Given the description of an element on the screen output the (x, y) to click on. 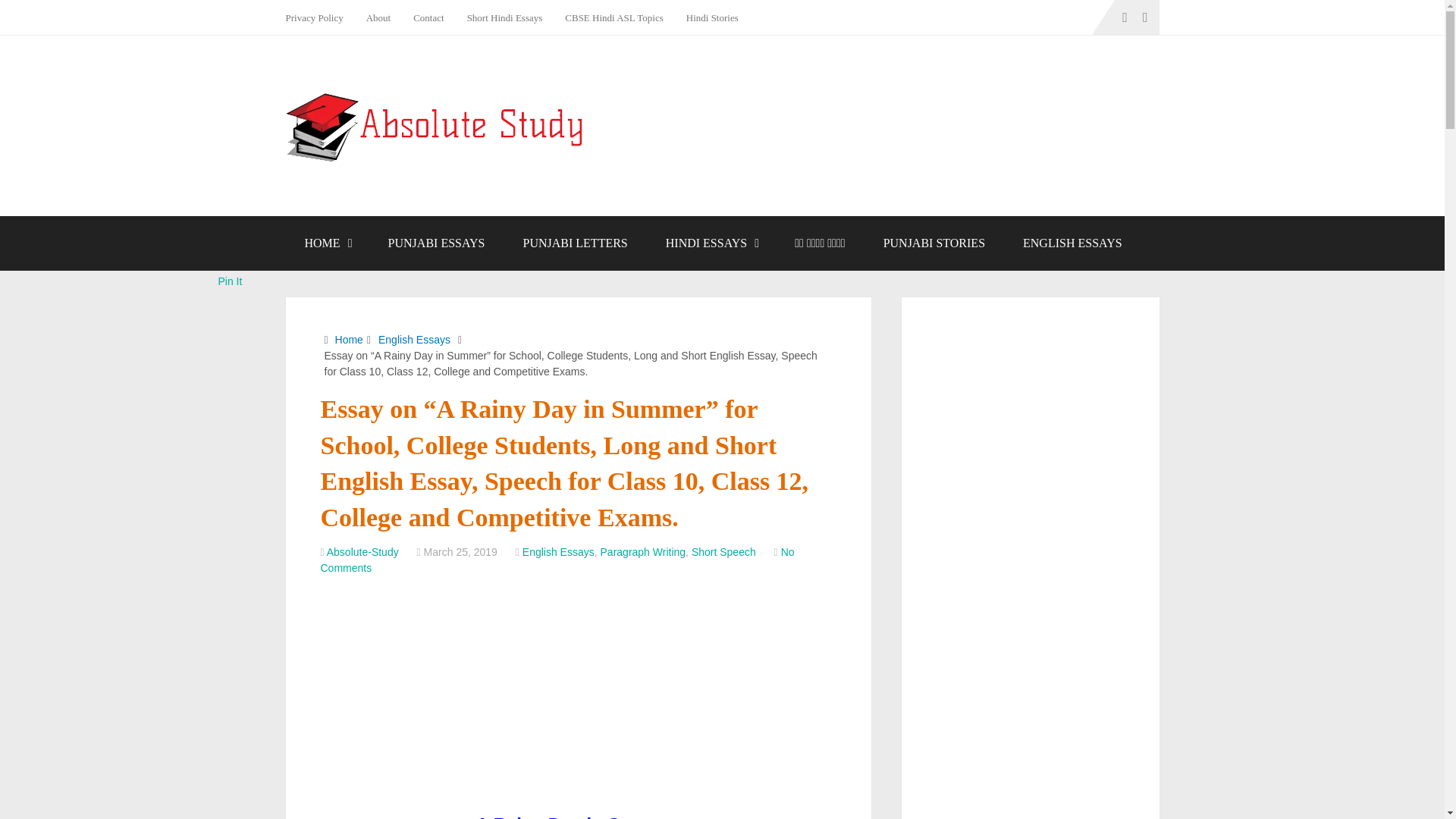
HOME (326, 243)
View all posts in Short Speech (723, 551)
Absolute-Study (362, 551)
View all posts in English Essays (558, 551)
Home (348, 339)
Short Hindi Essays (504, 17)
HINDI ESSAYS (711, 243)
English Essays (558, 551)
Advertisement (577, 697)
Posts by Absolute-Study (362, 551)
